Given the description of an element on the screen output the (x, y) to click on. 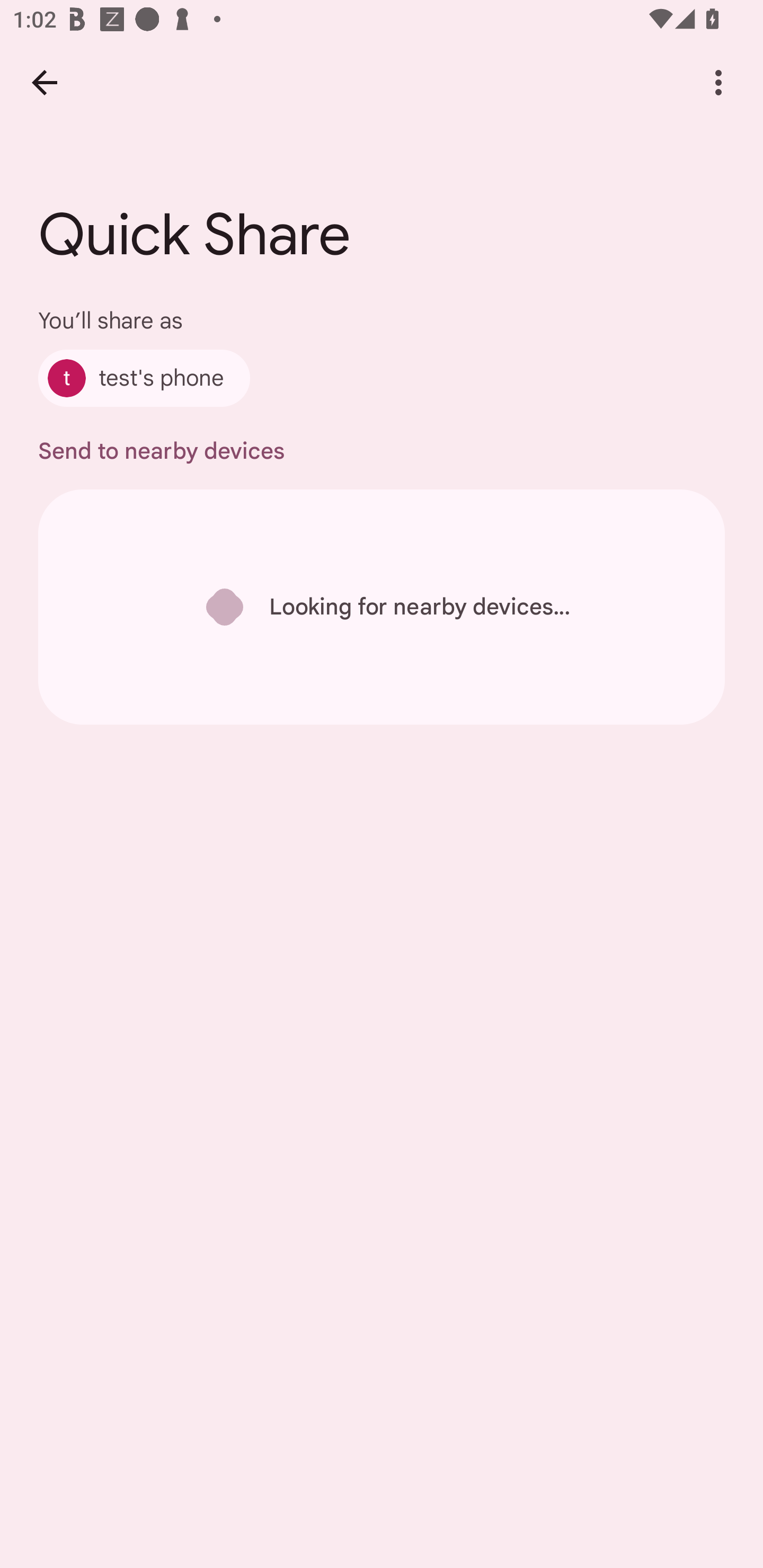
Back (44, 81)
More (718, 81)
test's phone (144, 378)
